Given the description of an element on the screen output the (x, y) to click on. 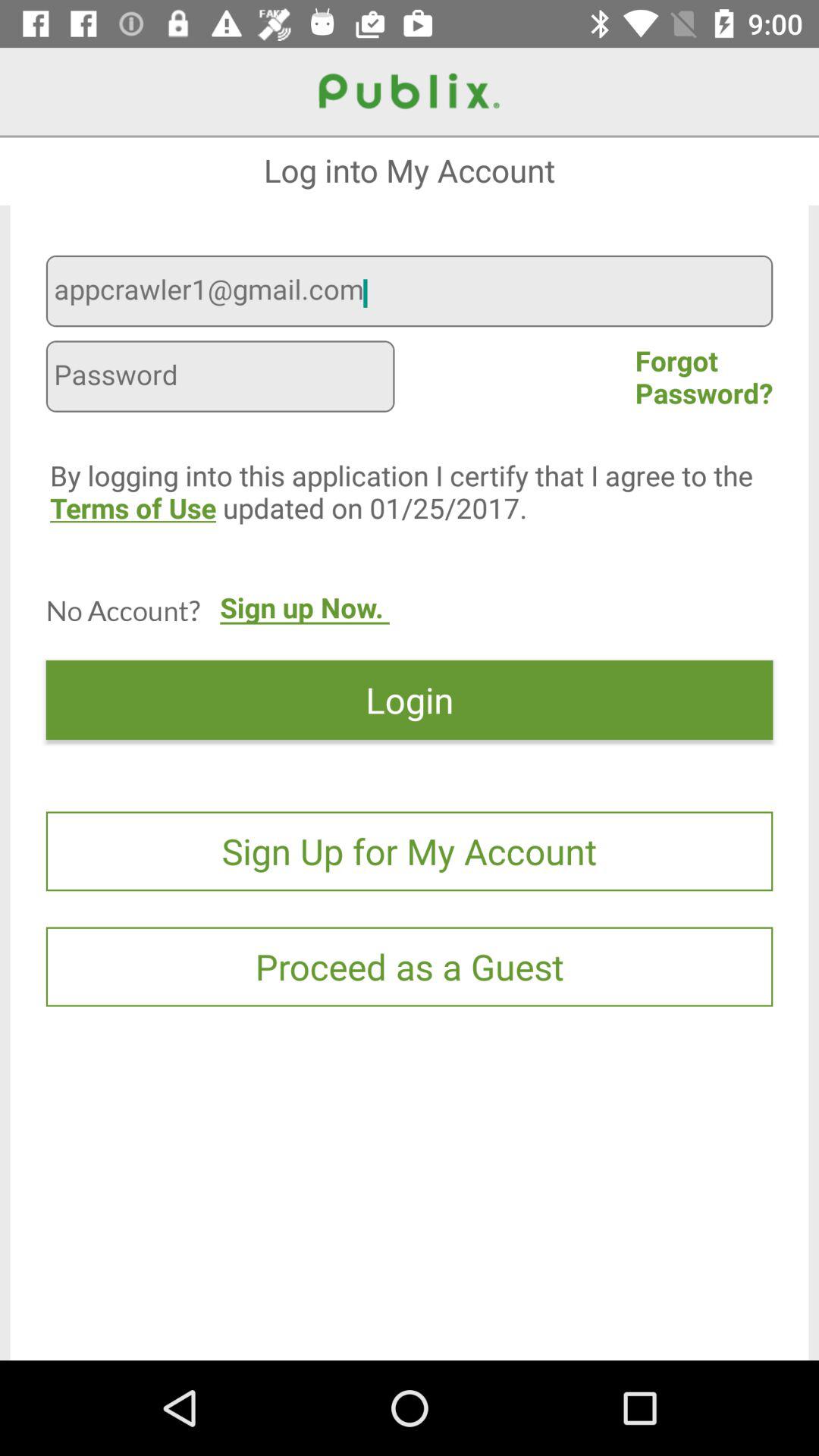
open the item below sign up for (409, 966)
